Given the description of an element on the screen output the (x, y) to click on. 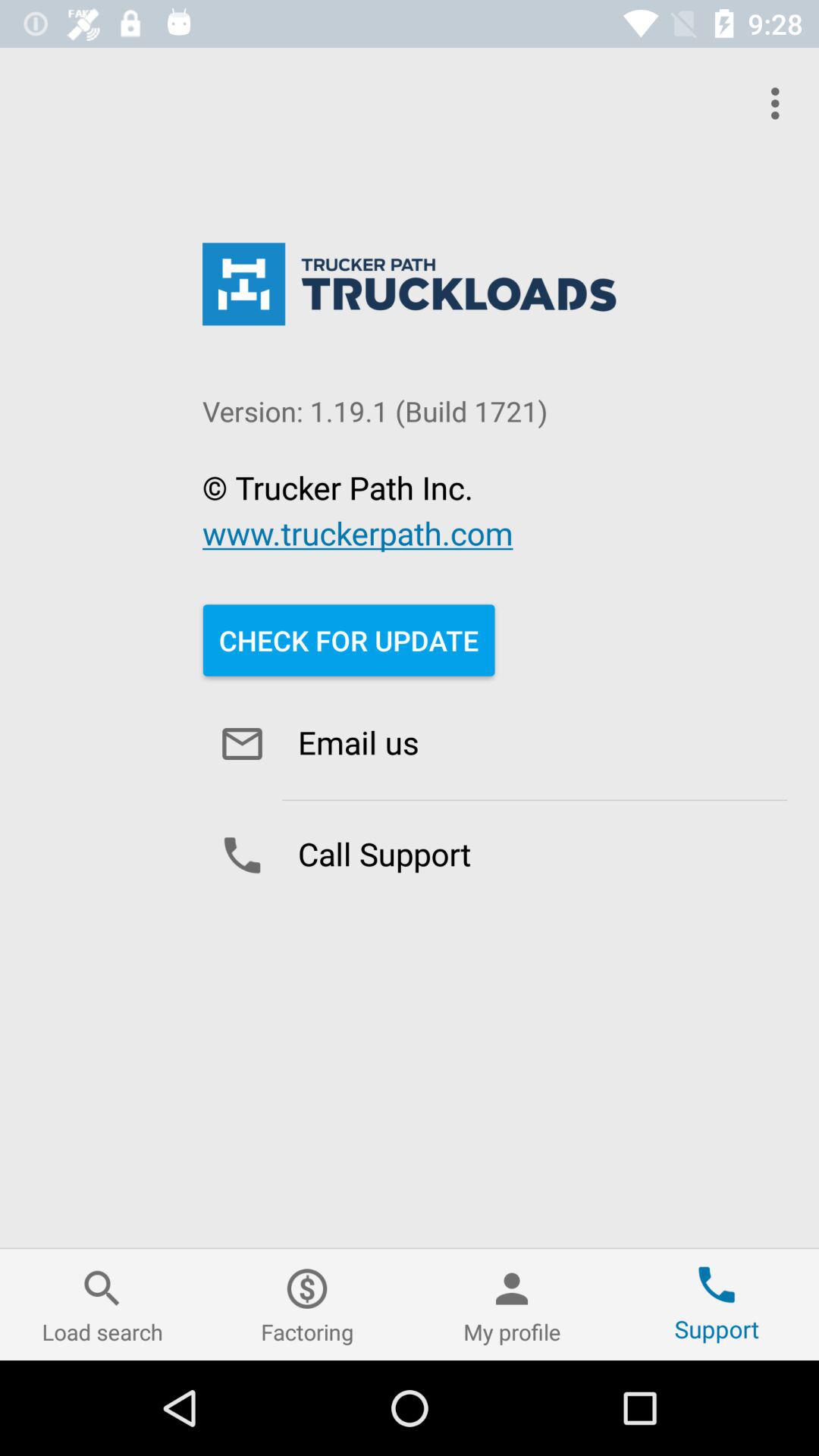
open the icon next to the support icon (511, 1304)
